Given the description of an element on the screen output the (x, y) to click on. 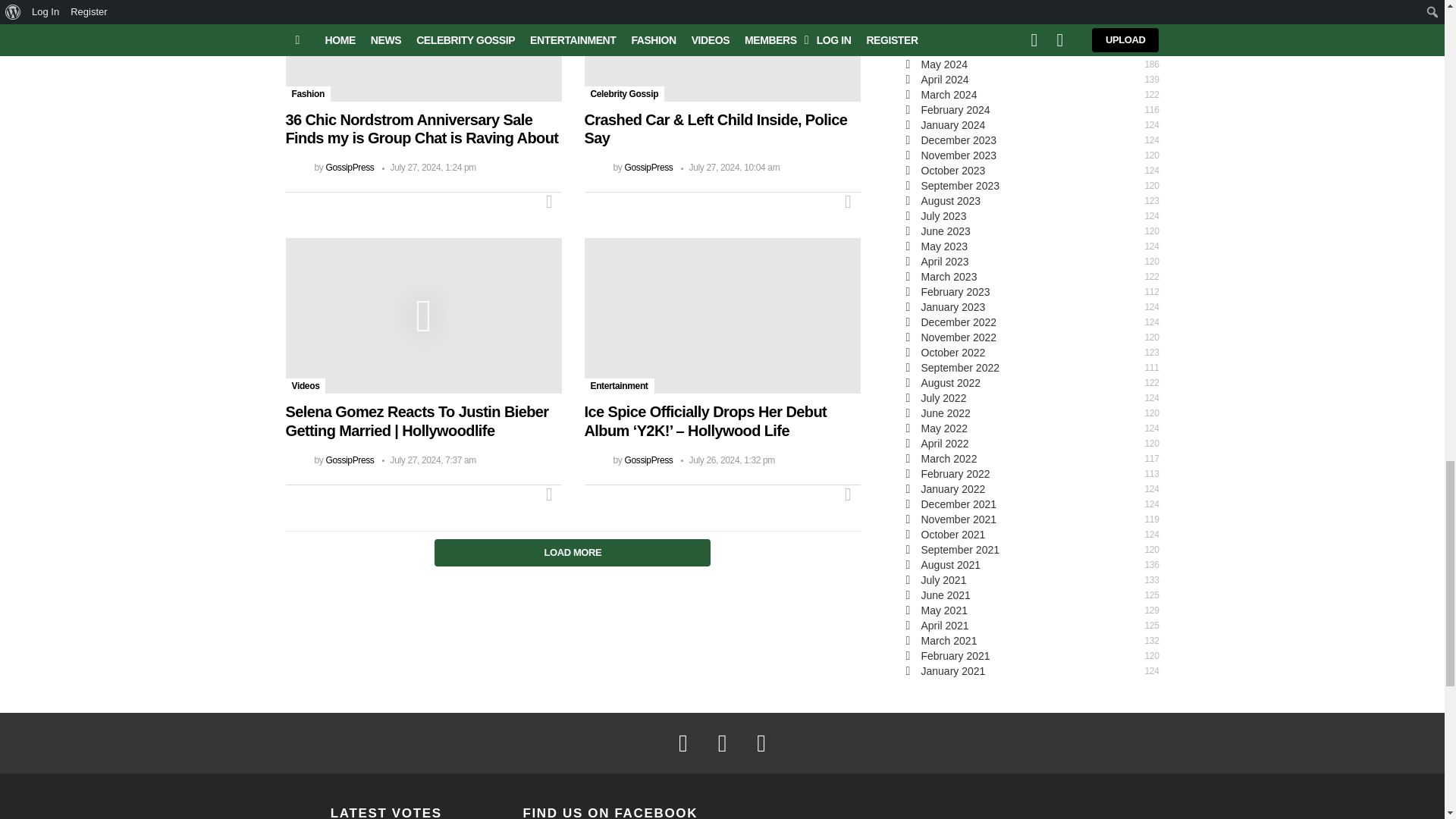
LOAD MORE (572, 548)
